Given the description of an element on the screen output the (x, y) to click on. 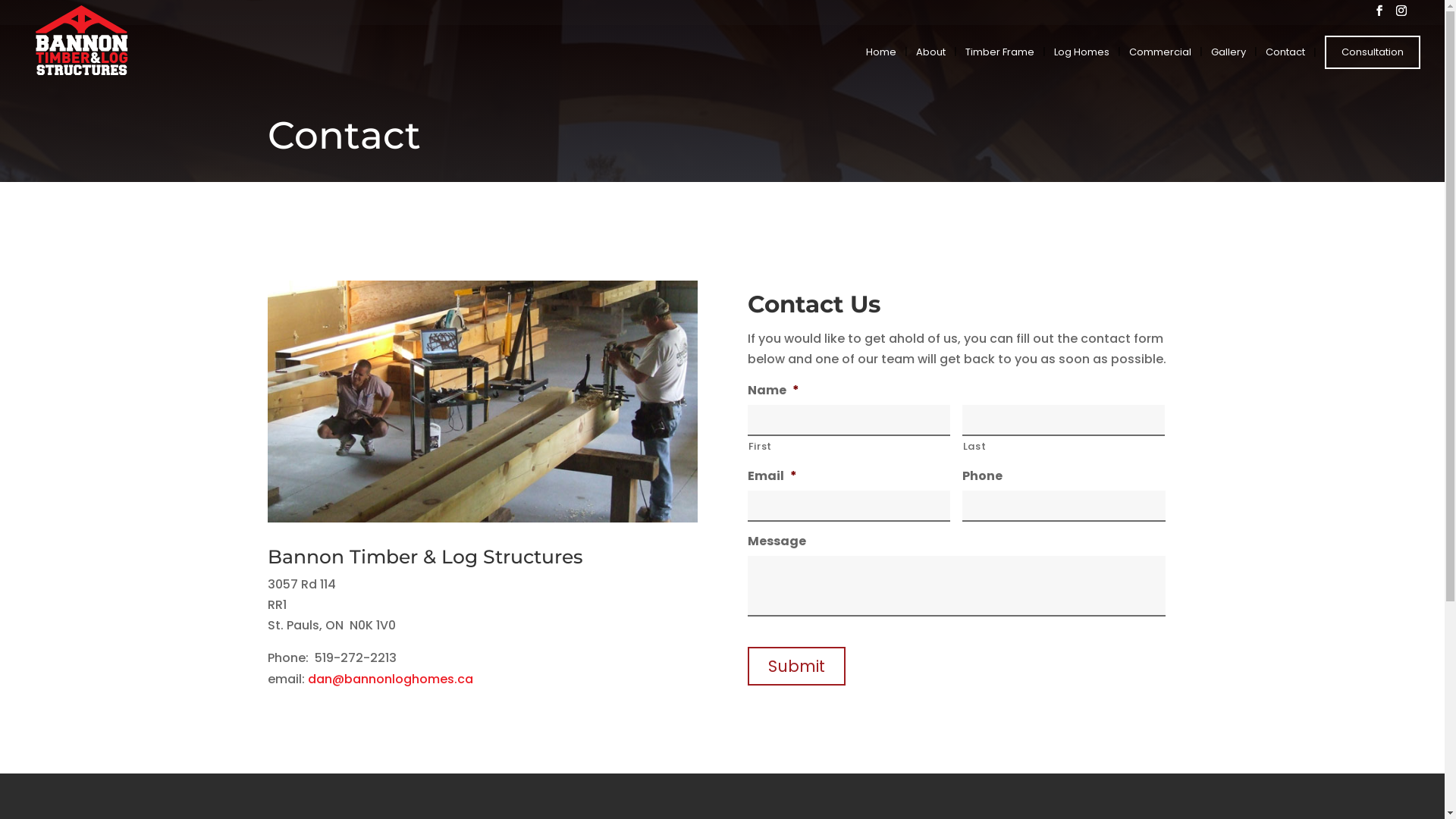
Log Homes Element type: text (1081, 63)
Home Element type: text (881, 63)
About Element type: text (930, 63)
dan@bannonloghomes.ca Element type: text (390, 678)
Timber Frame Element type: text (999, 63)
Submit Element type: text (796, 665)
Gallery Element type: text (1228, 63)
Consultation Element type: text (1372, 51)
Contact Element type: text (1285, 63)
Commercial Element type: text (1160, 63)
